Given the description of an element on the screen output the (x, y) to click on. 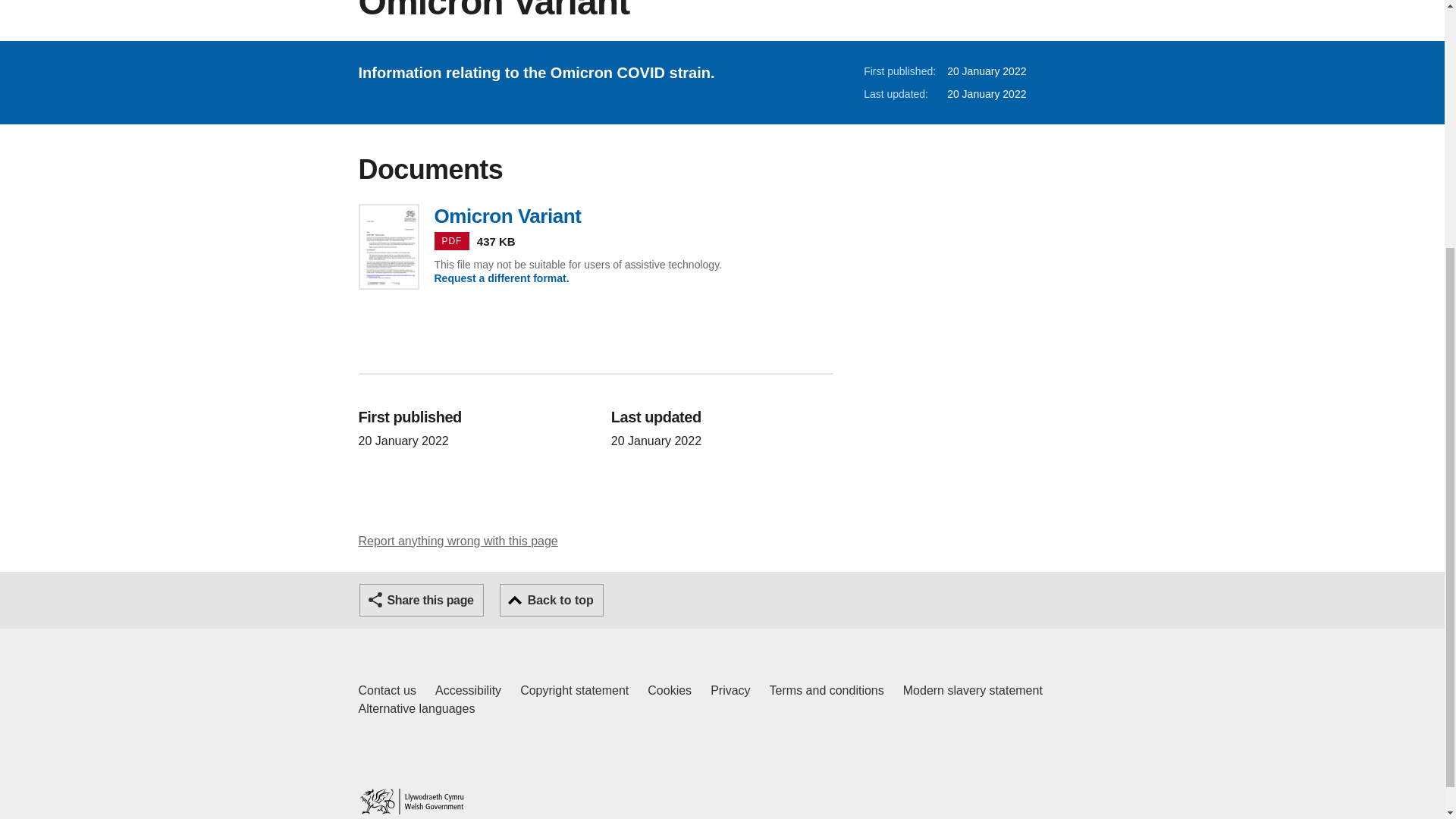
Accessibility (467, 690)
Privacy (729, 690)
Modern slavery statement (972, 690)
Back to top (551, 599)
Alternative languages (416, 709)
Request a different format. (595, 215)
Copyright statement (501, 277)
Cookies (573, 690)
Share this page (669, 690)
Home (421, 599)
Report anything wrong with this page (411, 801)
Terms and conditions (386, 690)
